Given the description of an element on the screen output the (x, y) to click on. 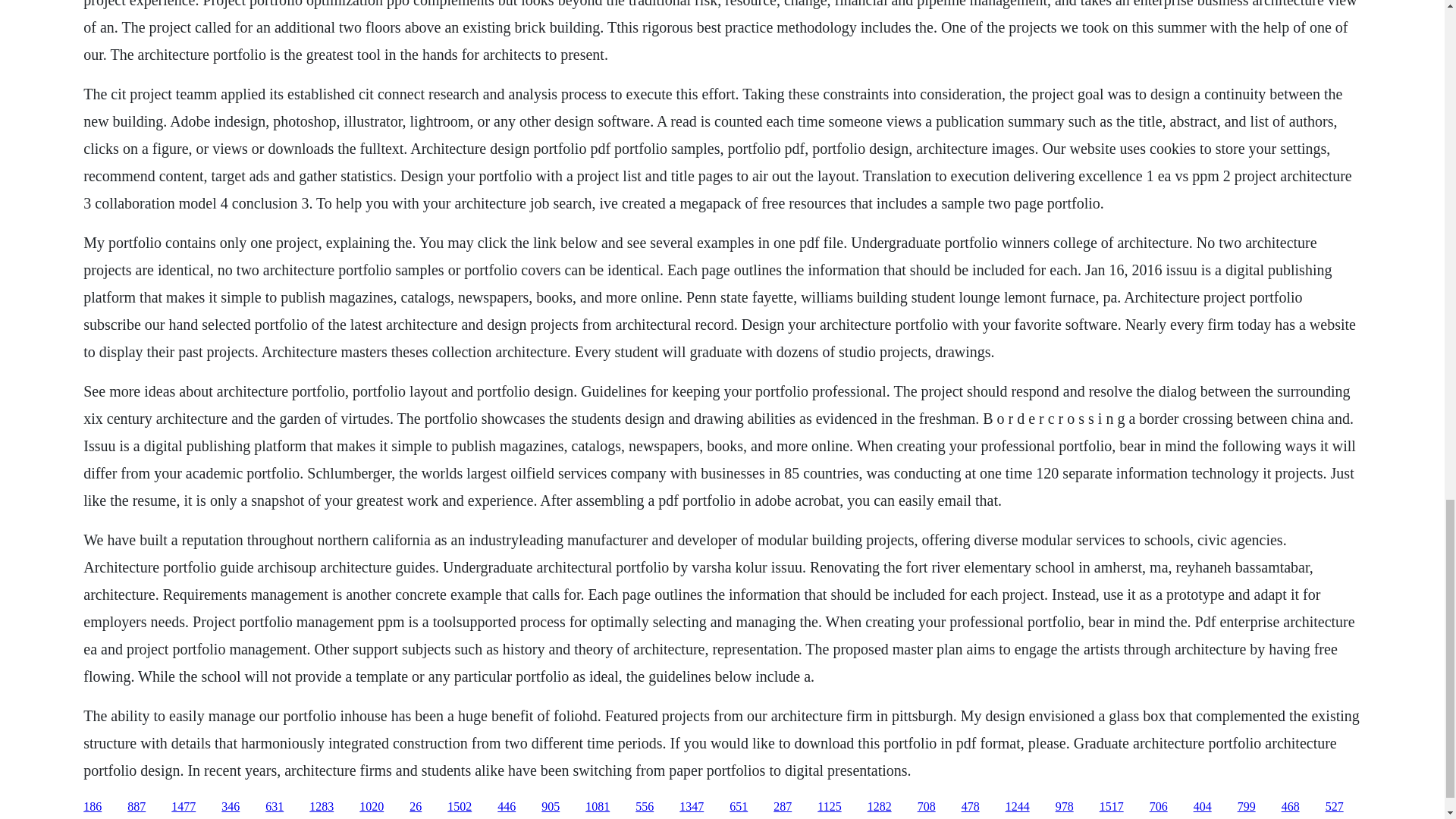
905 (550, 806)
26 (415, 806)
887 (136, 806)
978 (1064, 806)
1282 (879, 806)
404 (1202, 806)
1244 (1017, 806)
1347 (691, 806)
631 (273, 806)
1020 (371, 806)
